Given the description of an element on the screen output the (x, y) to click on. 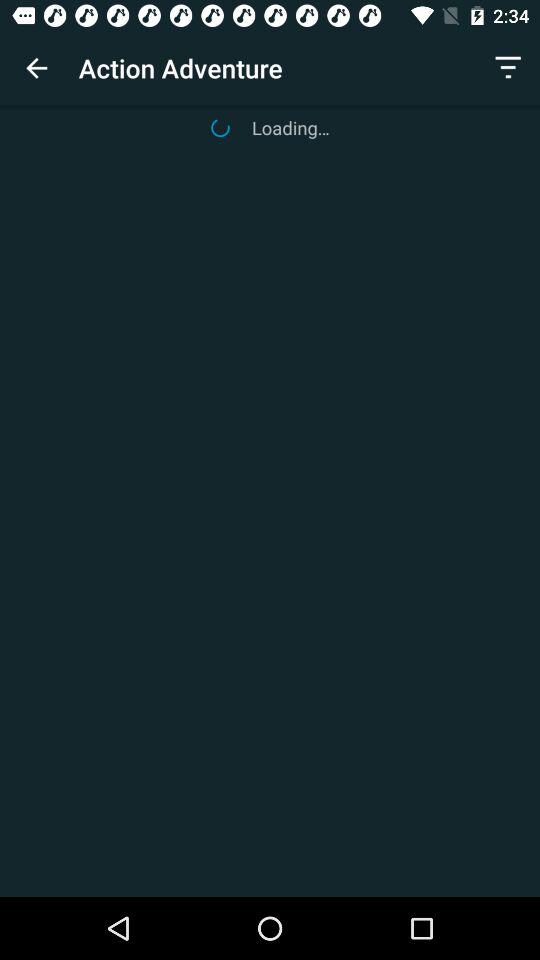
select the app to the right of action adventure (508, 67)
